Given the description of an element on the screen output the (x, y) to click on. 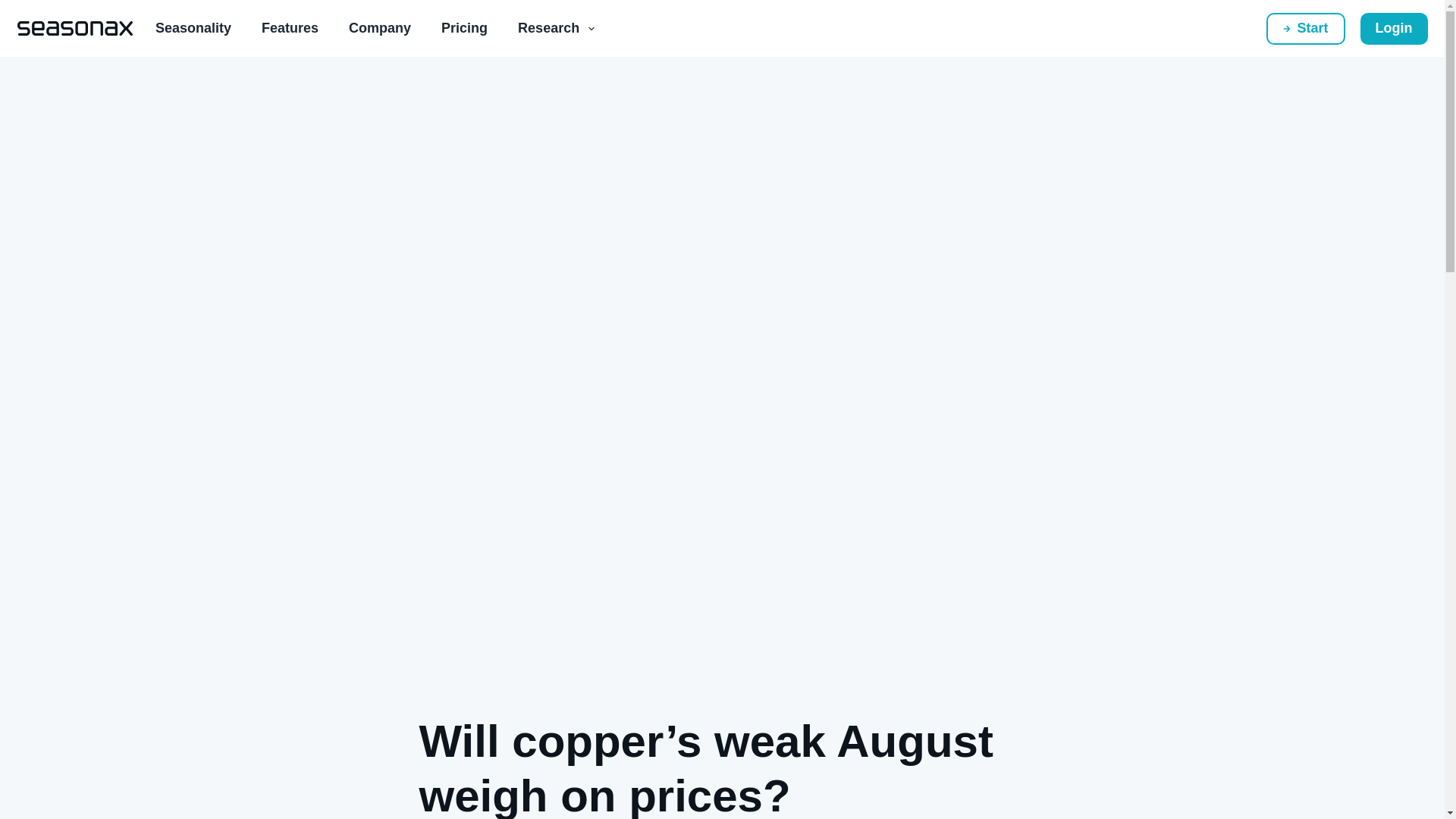
Login (1393, 28)
Research (556, 28)
Pricing (464, 28)
Company (379, 28)
Start (1305, 28)
Features (289, 28)
Skip to content (15, 7)
Seasonality (192, 28)
